Given the description of an element on the screen output the (x, y) to click on. 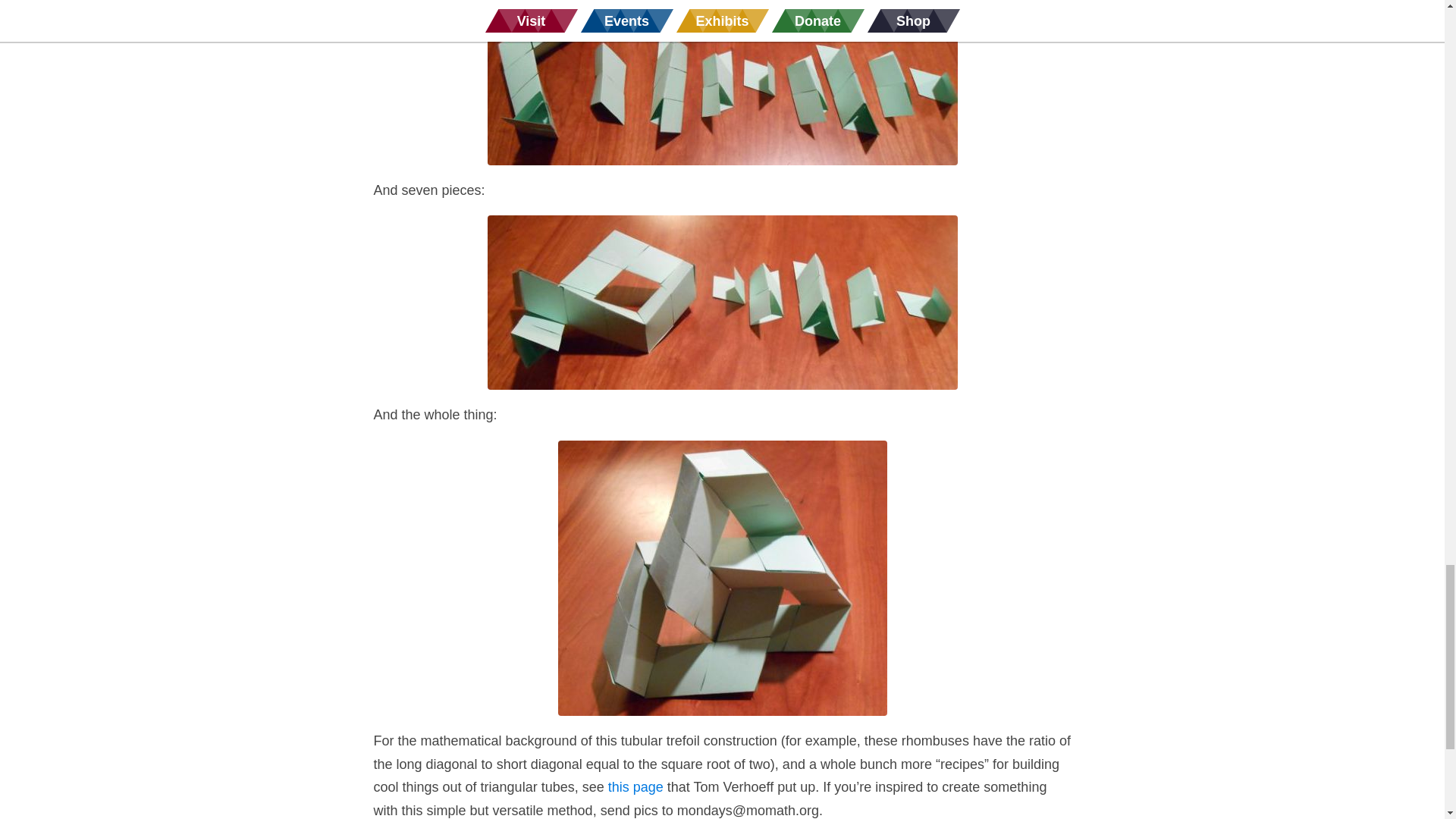
this page (635, 786)
